Given the description of an element on the screen output the (x, y) to click on. 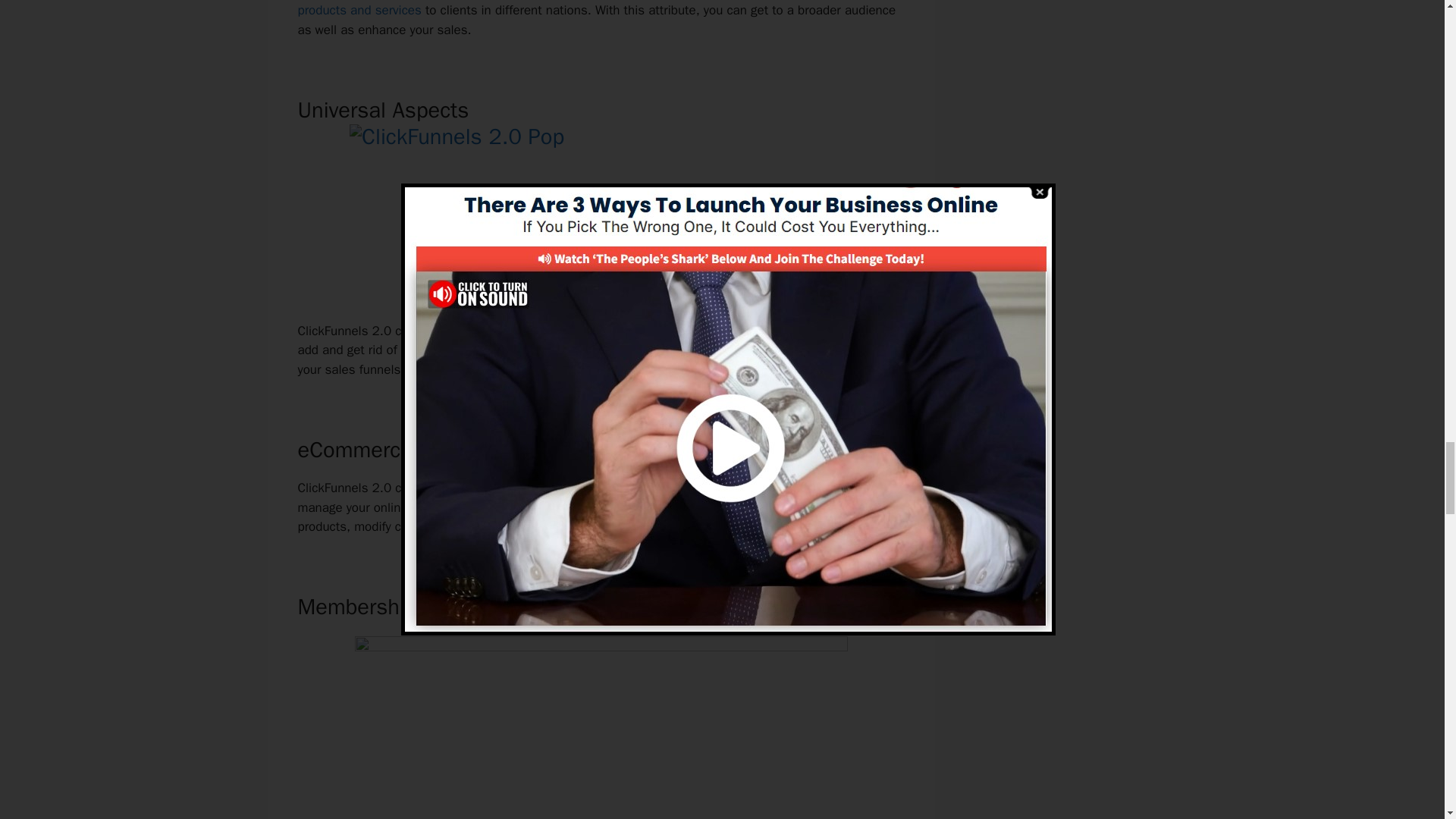
products and services (358, 10)
eCommerce (531, 507)
